Given the description of an element on the screen output the (x, y) to click on. 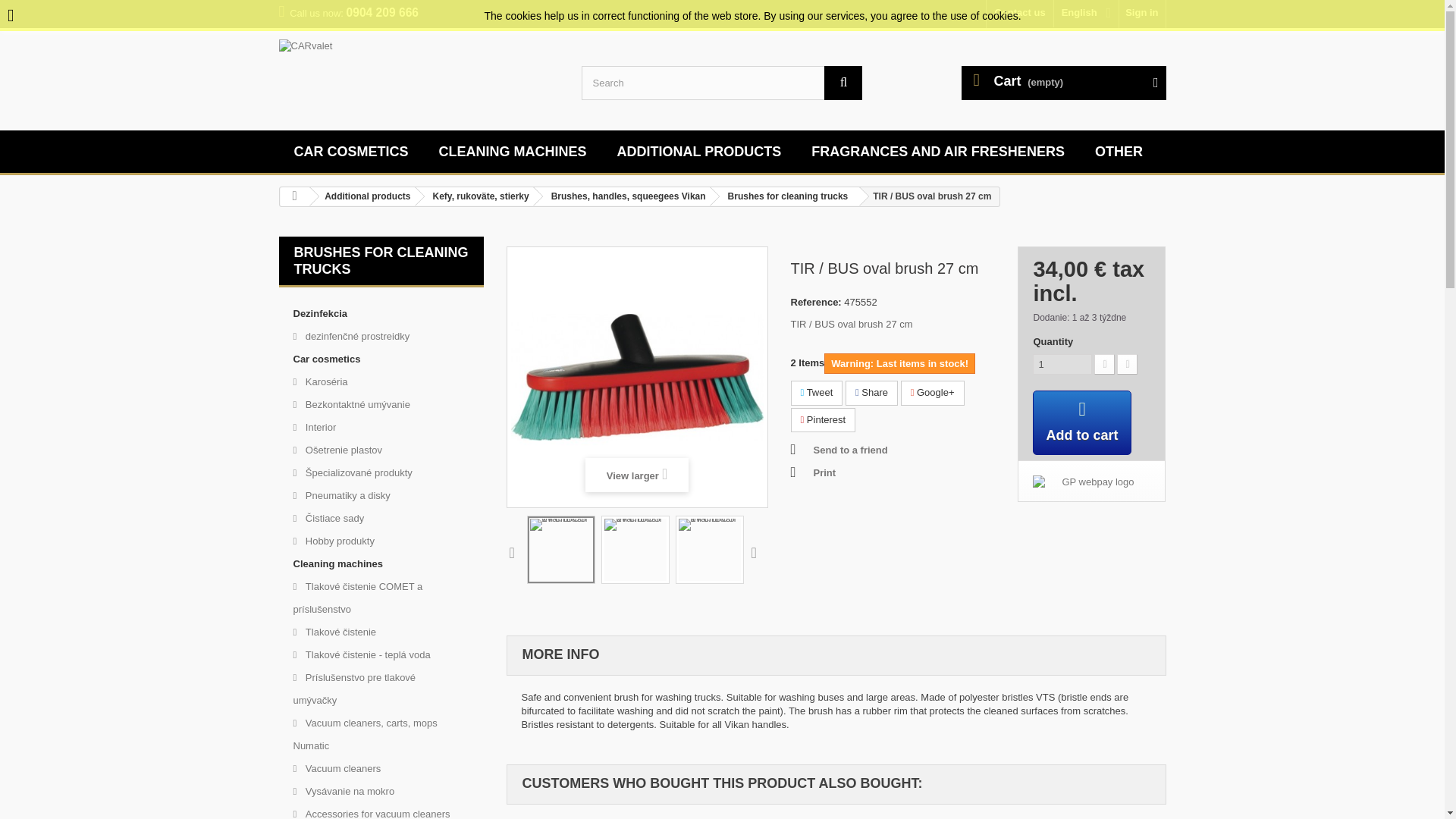
1 (1062, 363)
CARvalet (419, 77)
Cleaning machines (512, 152)
View my shopping cart (1063, 82)
CAR COSMETICS (351, 152)
Contact us (1019, 13)
Contact us (1019, 13)
Sign in (1141, 13)
Car cosmetics (351, 152)
Log in to your customer account (1141, 13)
